Given the description of an element on the screen output the (x, y) to click on. 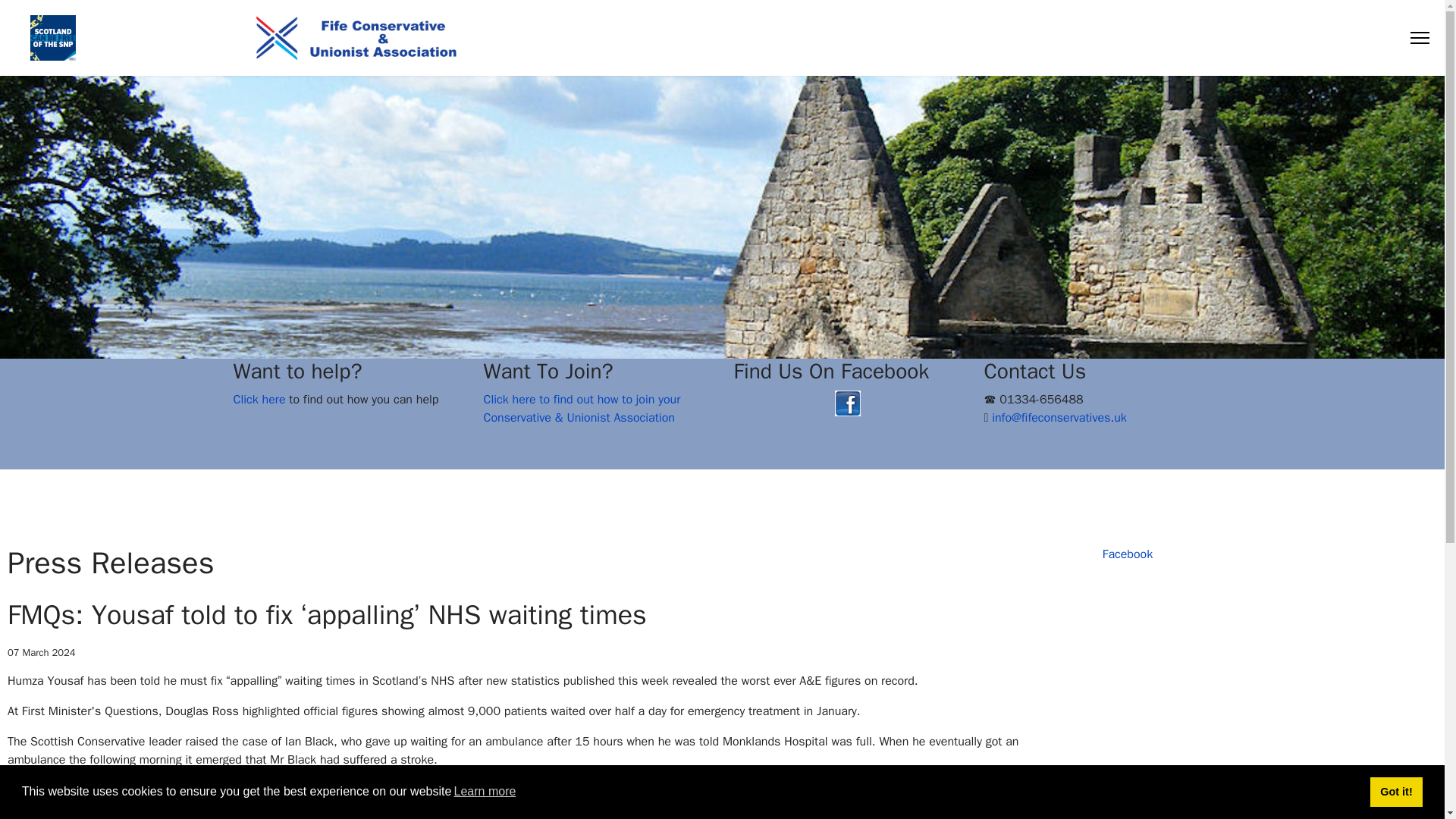
Got it! (1396, 791)
Who's Who (1227, 37)
Contact Us (1374, 37)
Menu (1419, 37)
Facebook (1127, 554)
Learn more (484, 791)
Click here (258, 399)
Councillors (1003, 37)
Press Releases (1141, 37)
Candidates (1304, 37)
Home (940, 37)
Published: 07 March 2024 (41, 652)
MSPs (1066, 37)
